Given the description of an element on the screen output the (x, y) to click on. 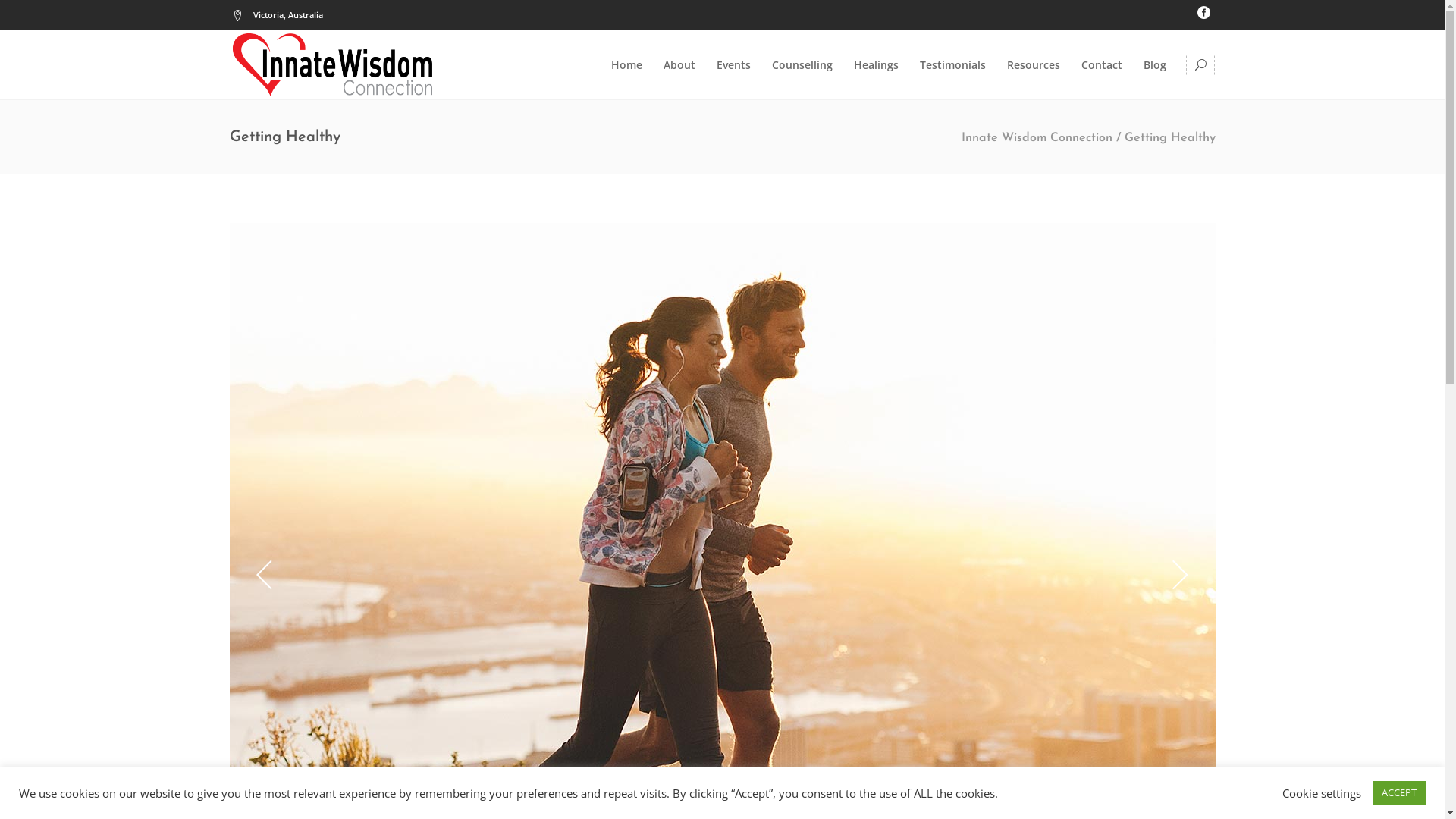
Cookie settings Element type: text (1321, 792)
Search Element type: text (1171, 123)
Blog Element type: text (1154, 64)
Events Element type: text (732, 64)
Resources Element type: text (1033, 64)
Home Element type: text (626, 64)
Healings Element type: text (876, 64)
About Element type: text (678, 64)
Innate Wisdom Connection Element type: text (1036, 137)
Testimonials Element type: text (951, 64)
Counselling Element type: text (802, 64)
Contact Element type: text (1101, 64)
ACCEPT Element type: text (1398, 792)
